Given the description of an element on the screen output the (x, y) to click on. 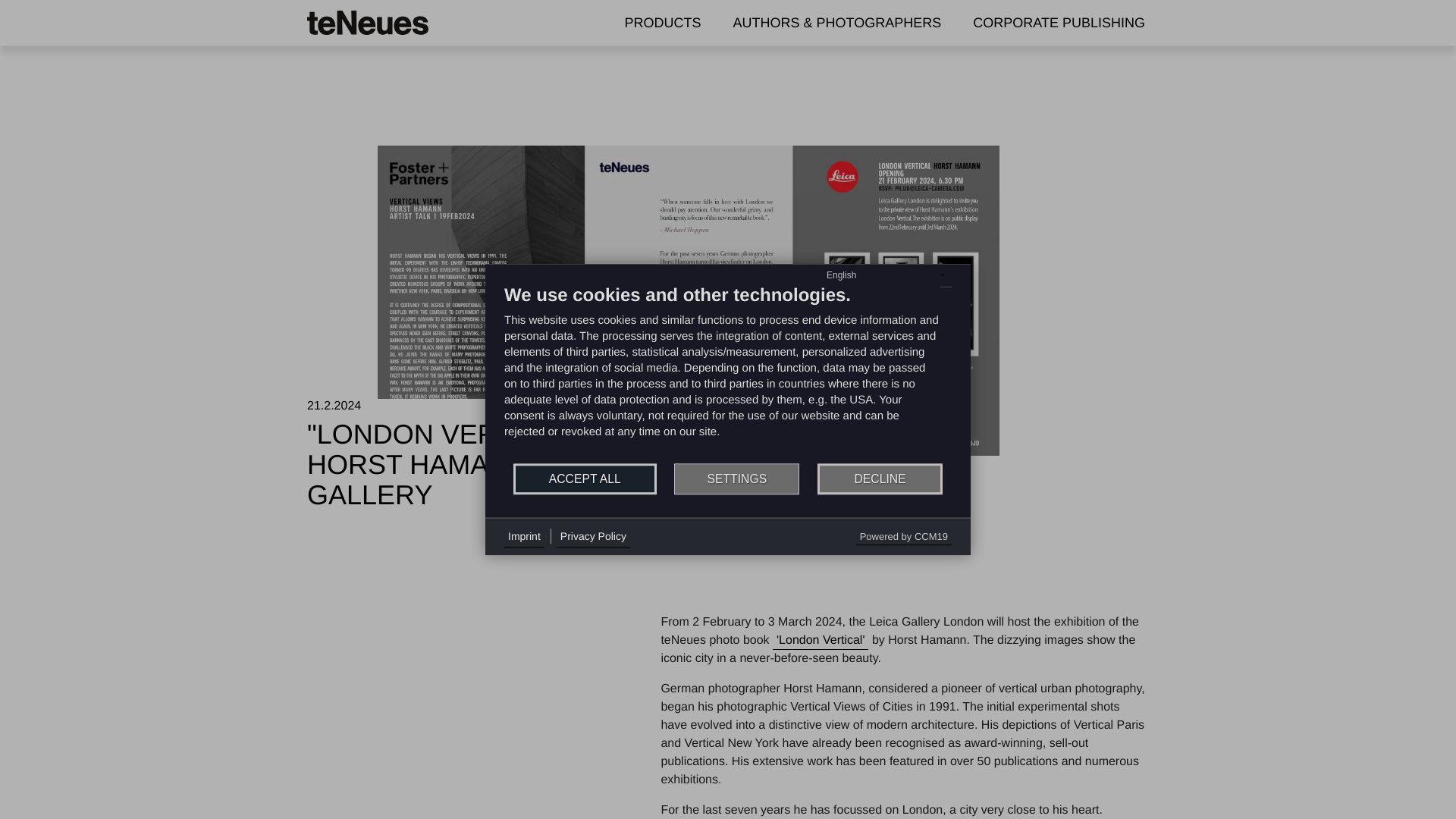
CORPORATE PUBLISHING (1058, 21)
CCM19 Cookie Consent Manager (904, 536)
PRODUCTS (662, 21)
